Given the description of an element on the screen output the (x, y) to click on. 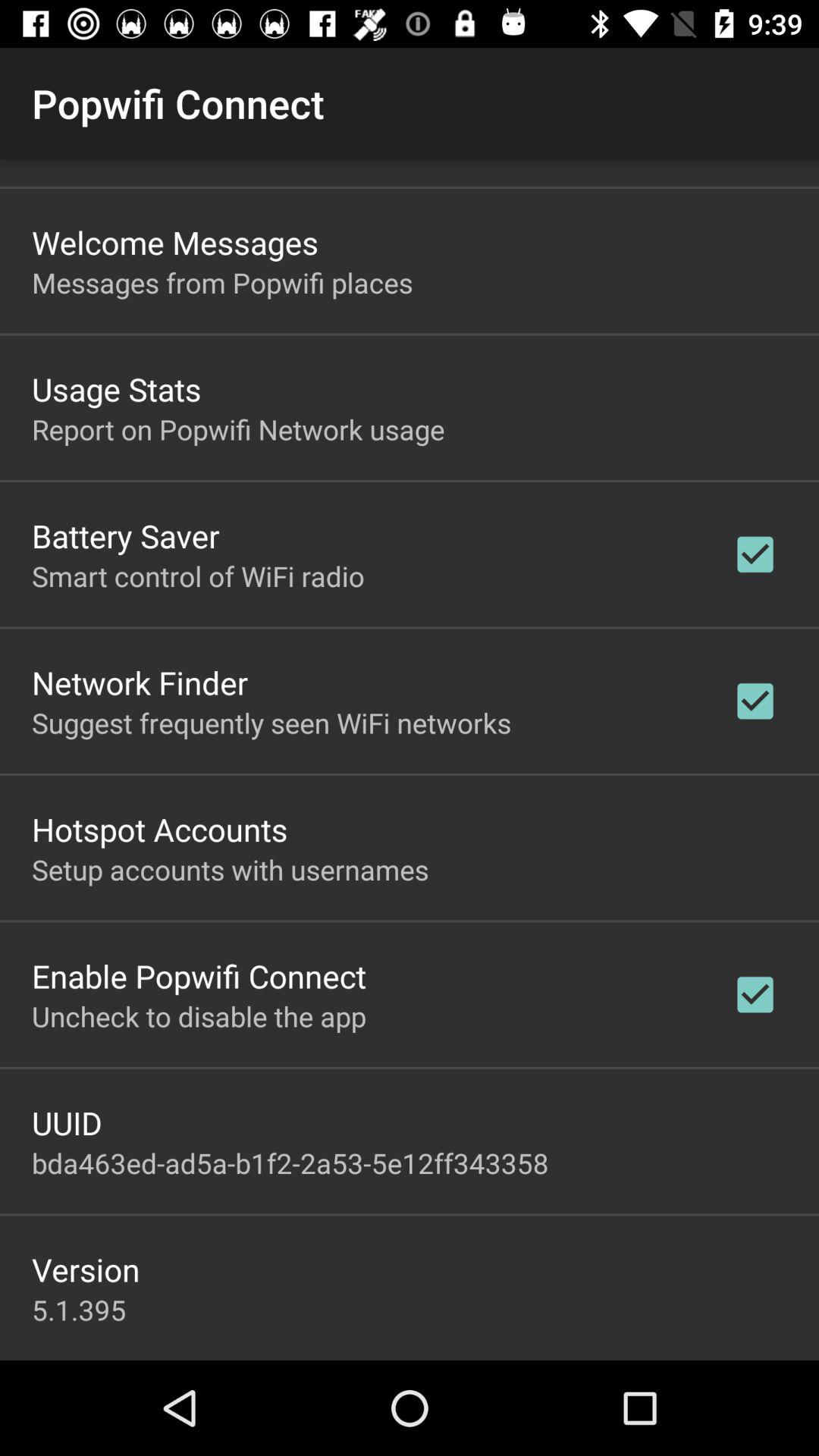
click the item below battery saver (197, 575)
